Given the description of an element on the screen output the (x, y) to click on. 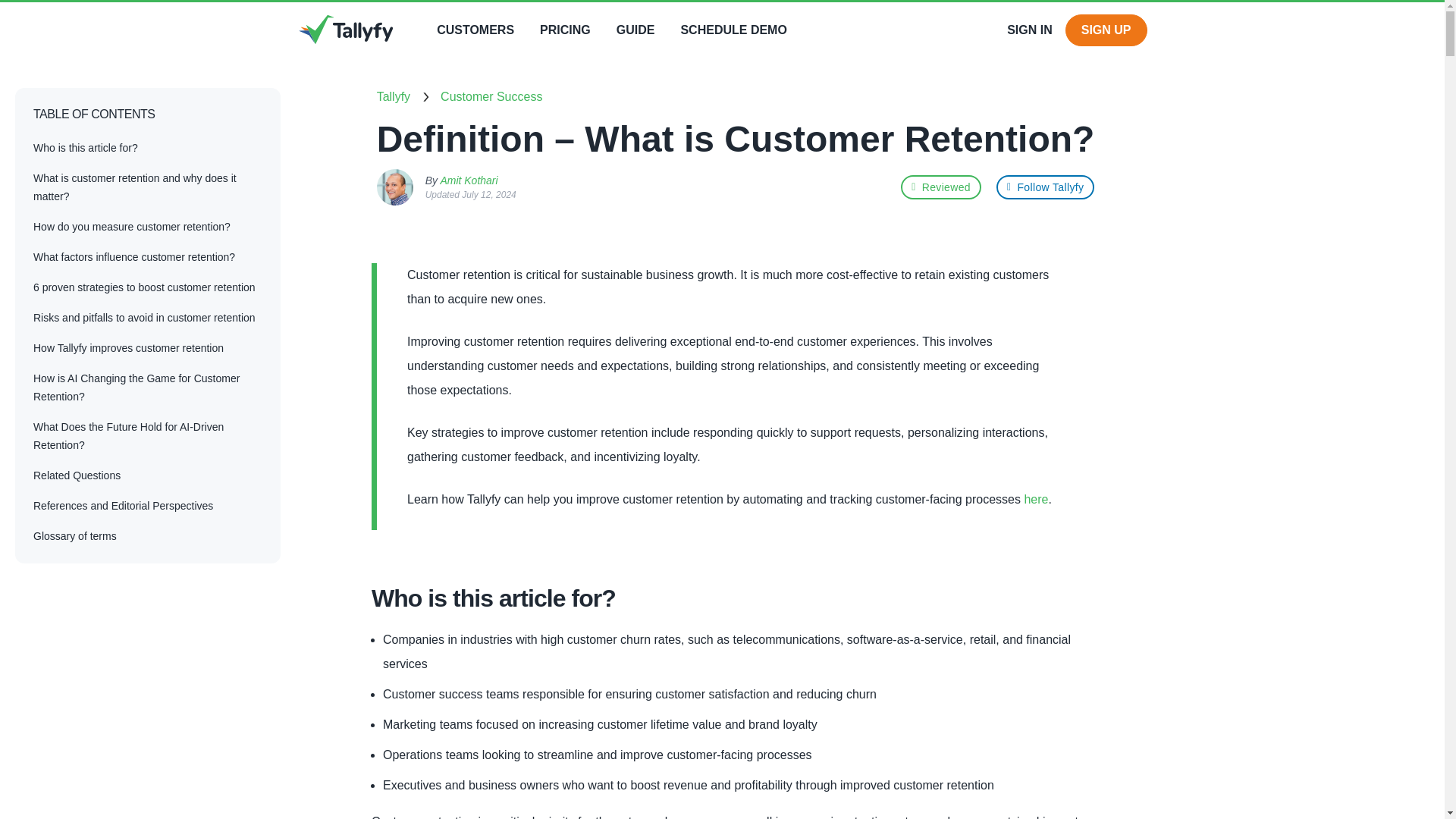
Tallyfy (941, 187)
What Does the Future Hold for AI-Driven Retention? (128, 436)
What factors influence customer retention? (133, 257)
6 proven strategies to boost customer retention (144, 287)
Risks and pitfalls to avoid in customer retention (144, 318)
Customer testimonials (475, 29)
Customer Success (491, 97)
Related Questions (76, 476)
Who is this article for? (85, 148)
Reviewed (941, 187)
